Given the description of an element on the screen output the (x, y) to click on. 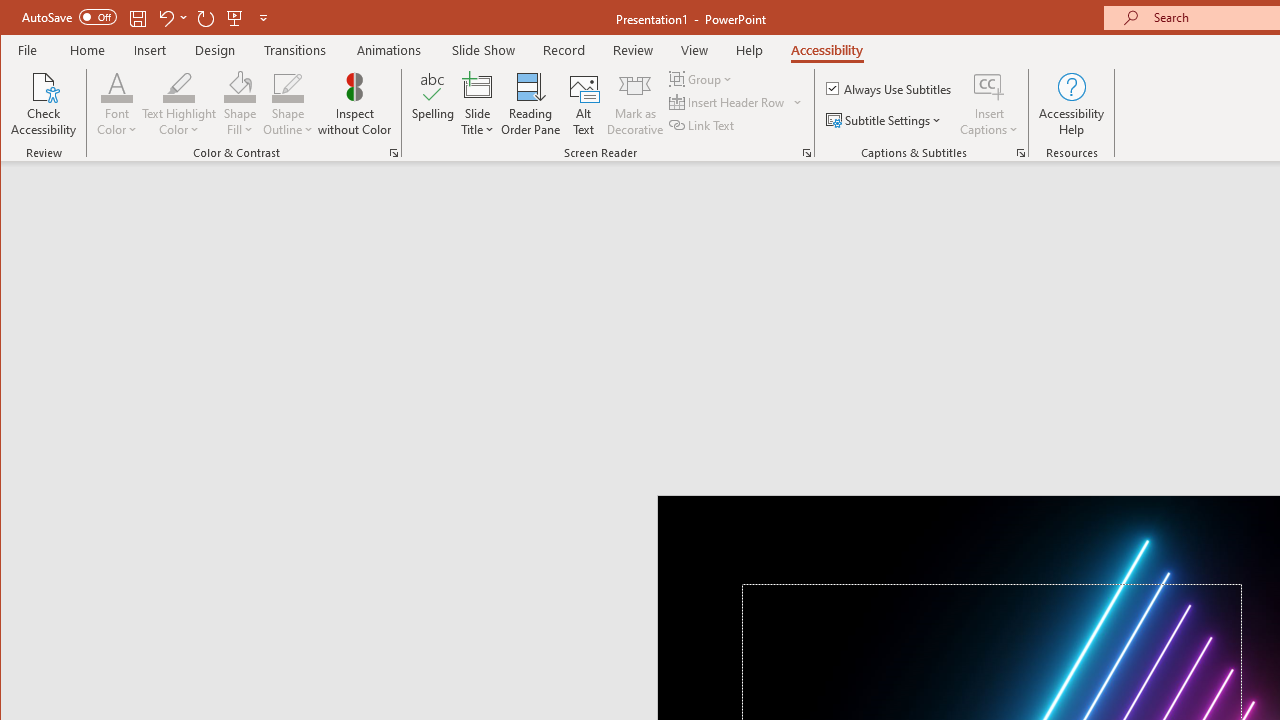
Screen Reader (806, 152)
Mark as Decorative (635, 104)
Reading Order Pane (531, 104)
